Given the description of an element on the screen output the (x, y) to click on. 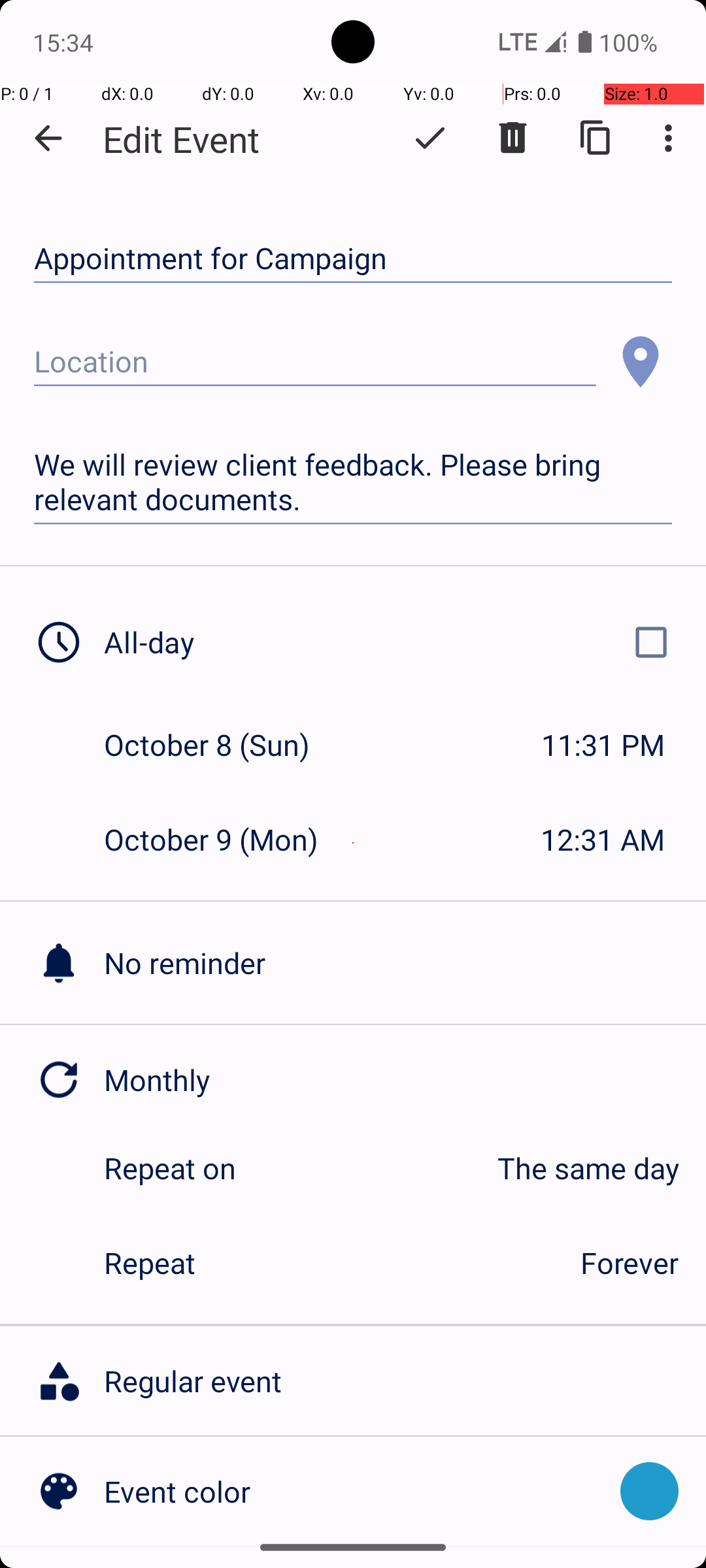
We will review client feedback. Please bring relevant documents. Element type: android.widget.EditText (352, 482)
October 8 (Sun) Element type: android.widget.TextView (220, 744)
11:31 PM Element type: android.widget.TextView (602, 744)
October 9 (Mon) Element type: android.widget.TextView (224, 838)
12:31 AM Element type: android.widget.TextView (602, 838)
Repeat on Element type: android.widget.TextView (169, 1167)
The same day Element type: android.widget.TextView (470, 1167)
Forever Element type: android.widget.TextView (629, 1262)
